Given the description of an element on the screen output the (x, y) to click on. 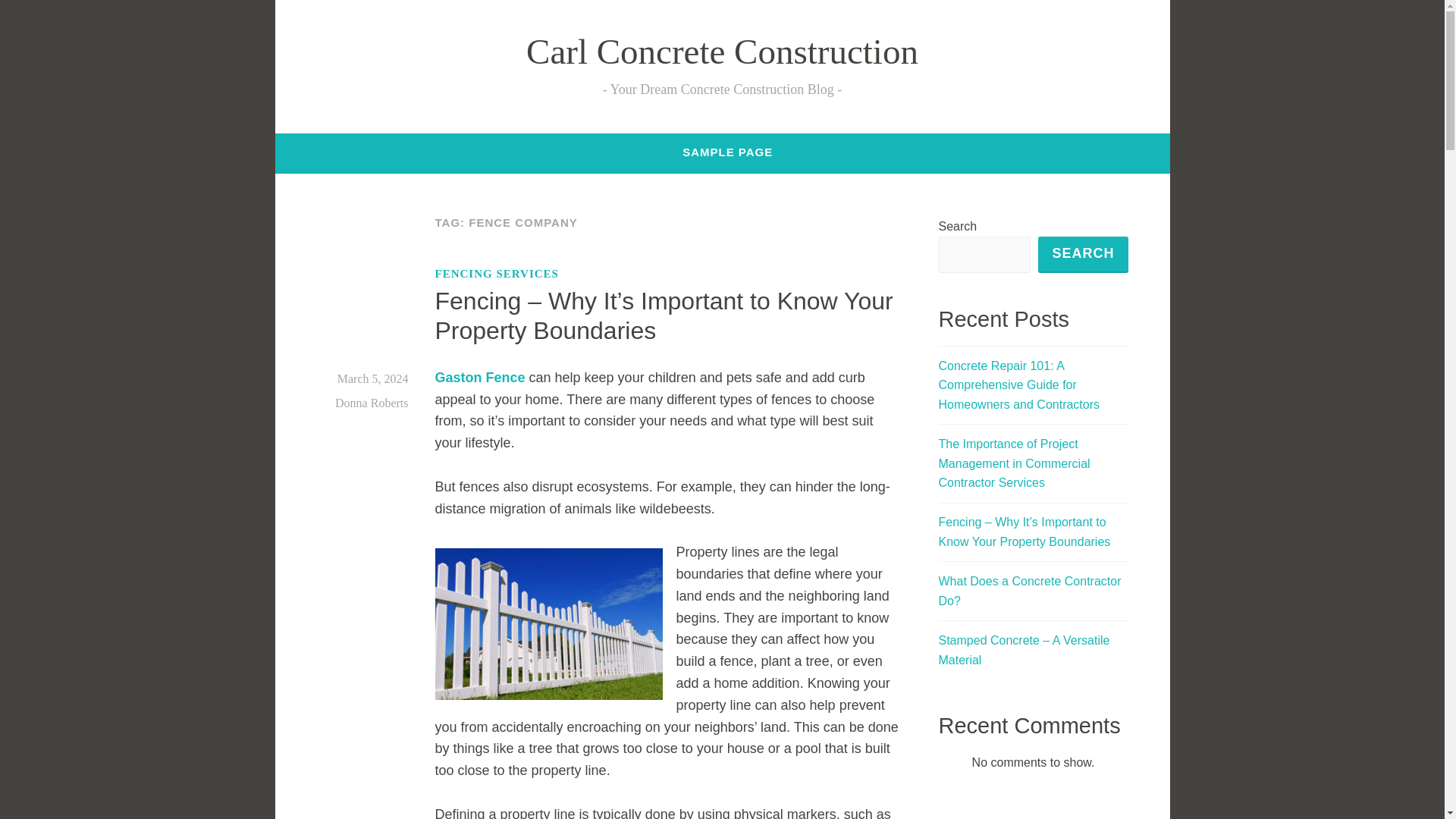
Gaston Fence (480, 377)
SEARCH (1082, 254)
What Does a Concrete Contractor Do? (1030, 590)
FENCING SERVICES (497, 273)
March 5, 2024 (373, 378)
SAMPLE PAGE (727, 152)
Donna Roberts (370, 402)
Carl Concrete Construction (721, 51)
